Given the description of an element on the screen output the (x, y) to click on. 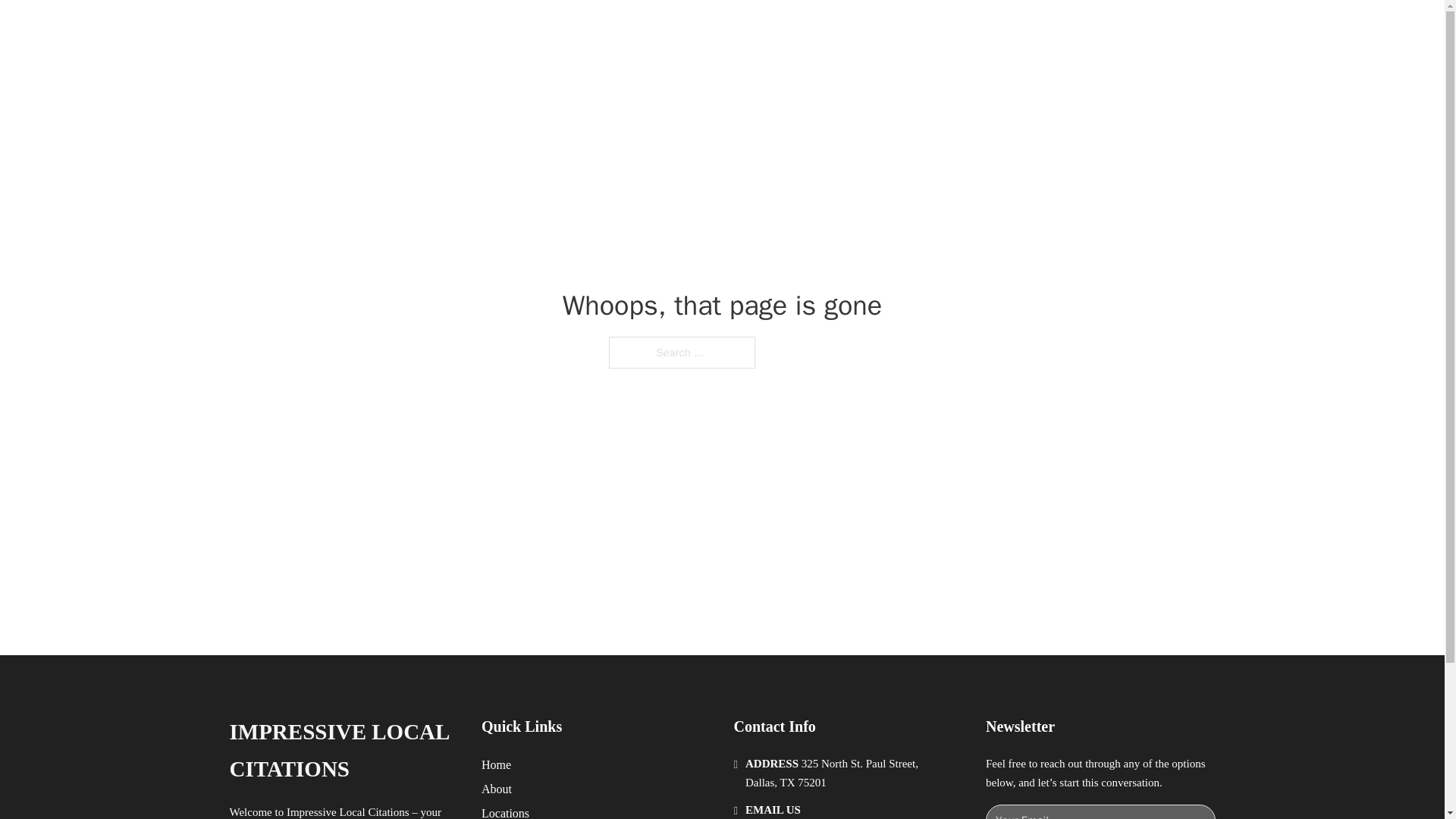
Home (496, 764)
Locations (505, 811)
About (496, 788)
IMPRESSIVE LOCAL CITATIONS (343, 750)
IMPRESSIVE LOCAL CITATIONS (458, 28)
